Given the description of an element on the screen output the (x, y) to click on. 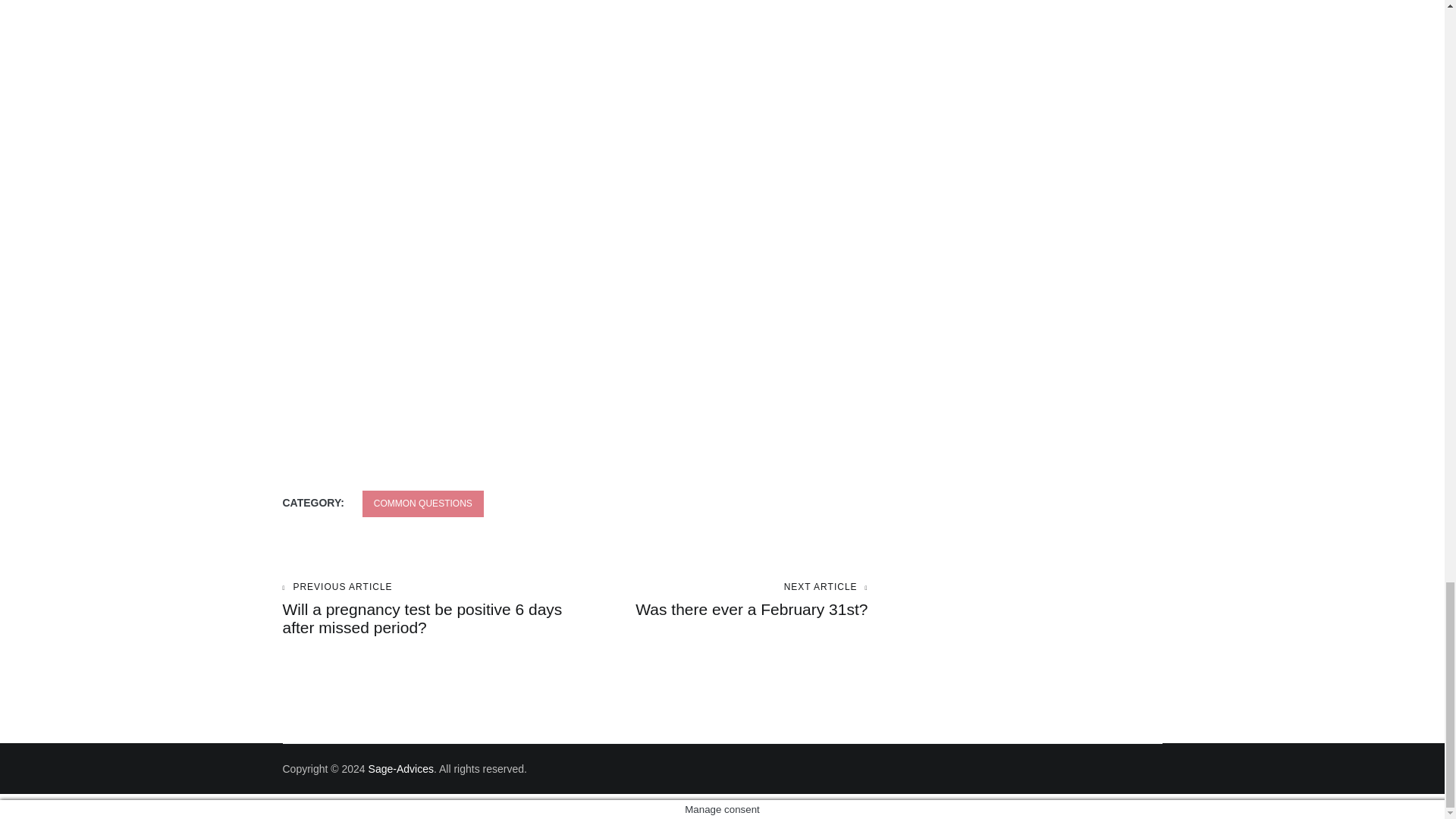
COMMON QUESTIONS (422, 503)
Sage-Advices (400, 768)
